Given the description of an element on the screen output the (x, y) to click on. 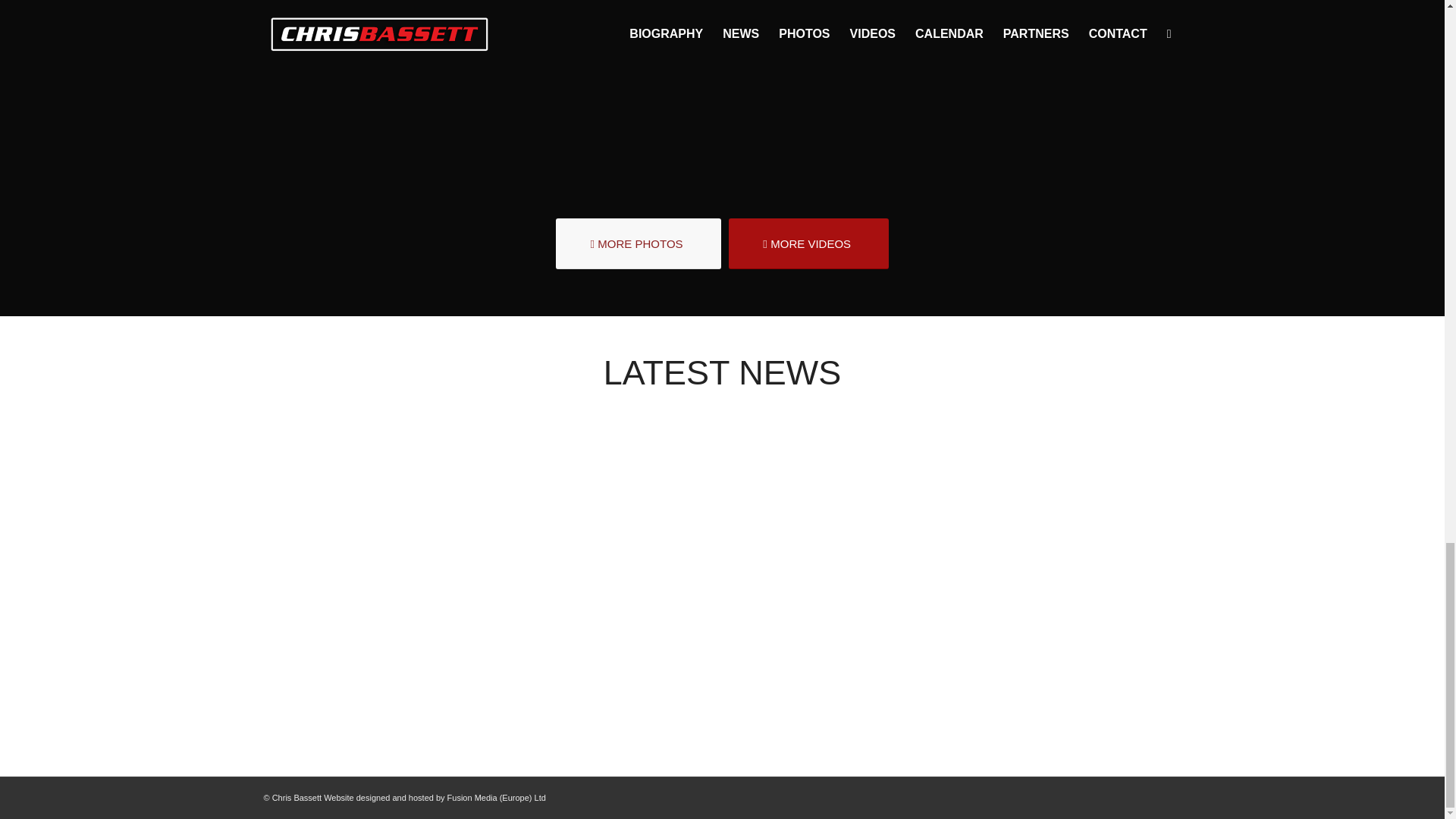
MORE VIDEOS (808, 243)
MORE PHOTOS (638, 243)
